Given the description of an element on the screen output the (x, y) to click on. 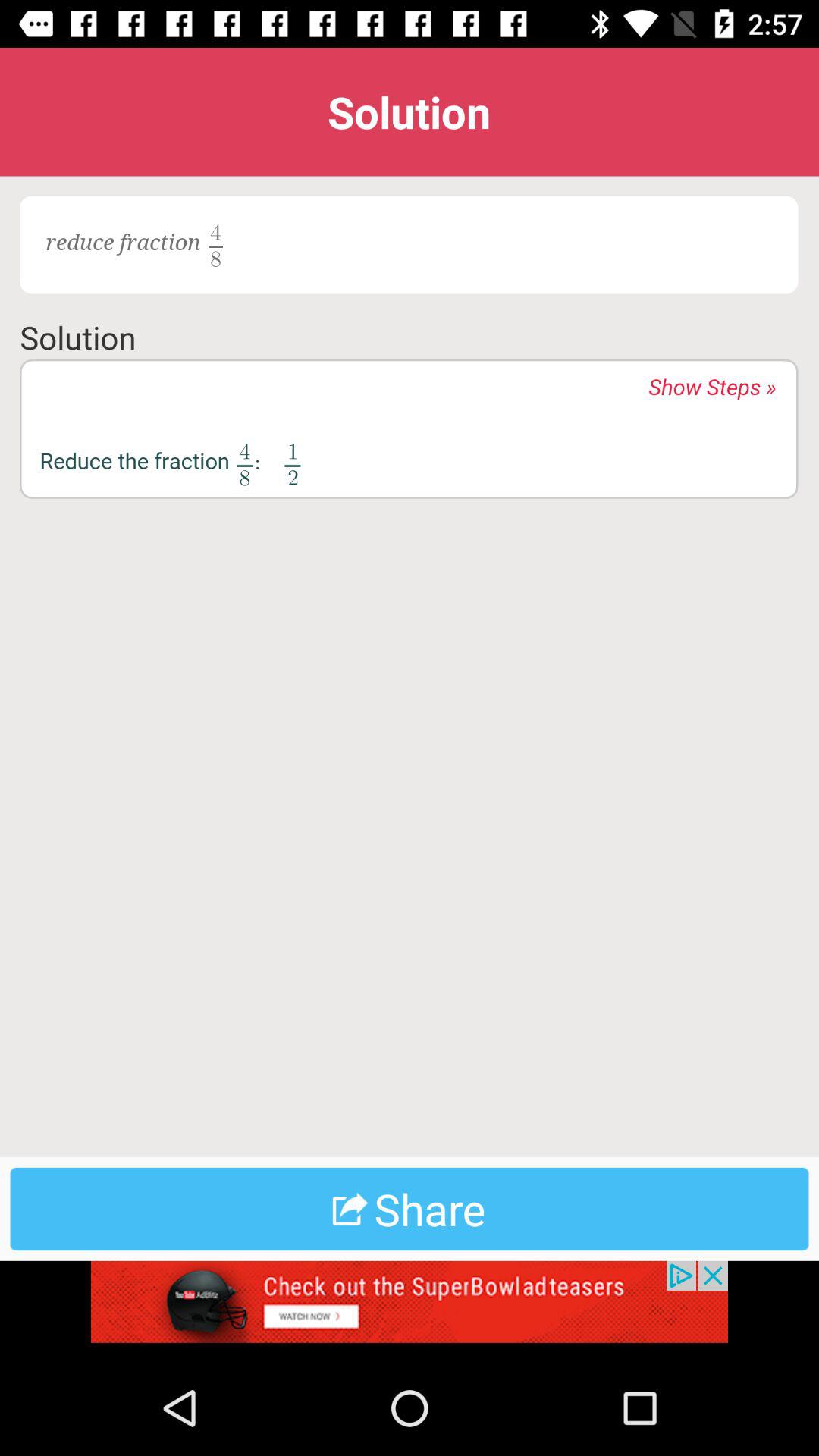
go to advertisement (409, 1310)
